Given the description of an element on the screen output the (x, y) to click on. 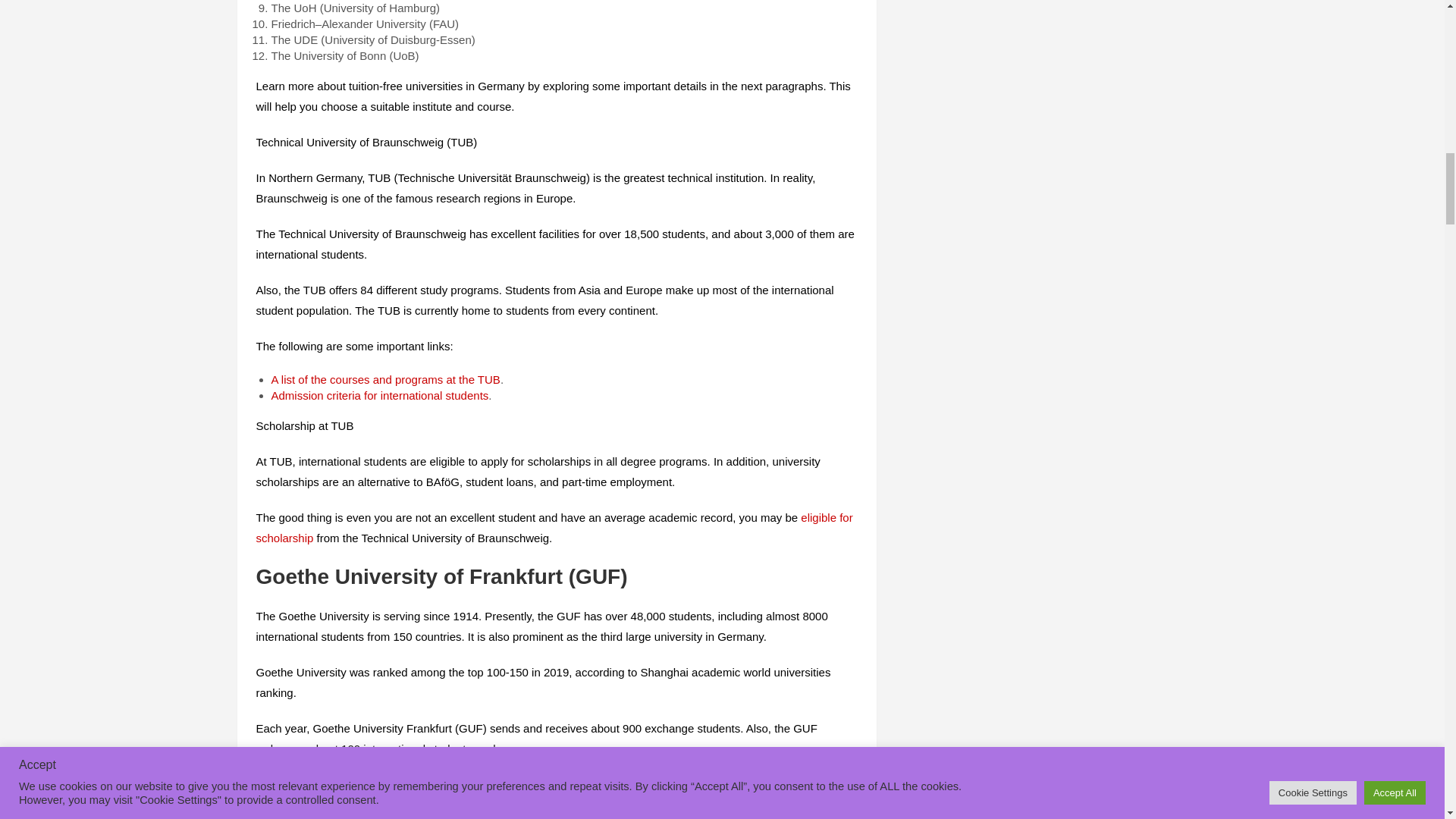
Admission criteria for international students (379, 394)
A list of the courses and programs at the TUB (385, 379)
eligible for scholarship (554, 527)
official website (807, 784)
